Given the description of an element on the screen output the (x, y) to click on. 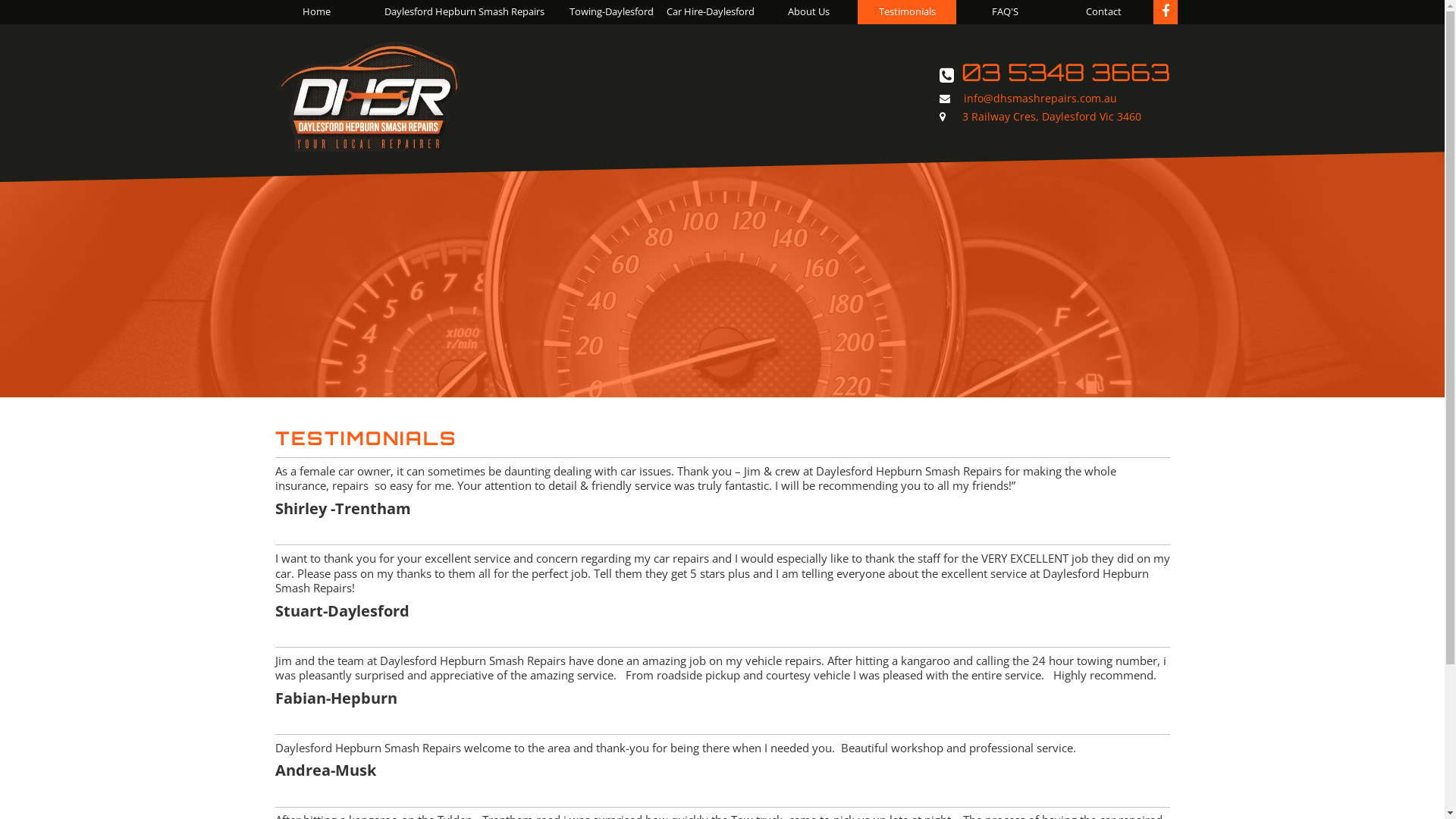
Testimonials Element type: text (906, 12)
info@dhsmashrepairs.com.au Element type: text (1027, 98)
About Us Element type: text (808, 12)
Car Hire-Daylesford Element type: text (710, 12)
Home Element type: text (315, 12)
Towing-Daylesford Element type: text (611, 12)
Daylesford Hepburn Smash Repairs Element type: text (463, 12)
Contact Element type: text (1103, 12)
FAQ'S Element type: text (1005, 12)
